Given the description of an element on the screen output the (x, y) to click on. 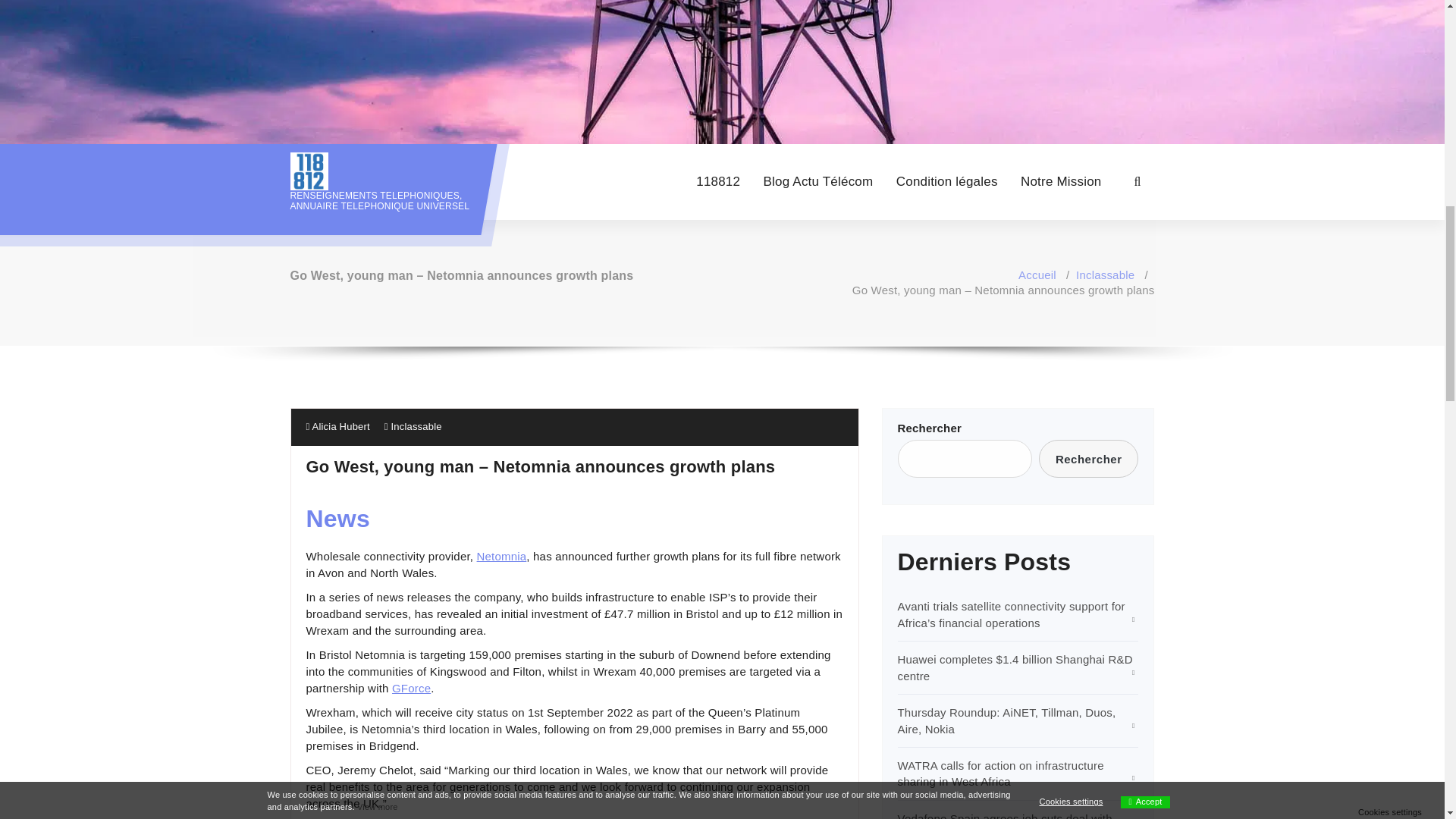
GForce (410, 687)
Notre Mission (1061, 182)
Netomnia (502, 555)
Accueil (1037, 274)
Inclassable (1104, 274)
Alicia Hubert (337, 426)
Inclassable (415, 426)
Vodafone Spain agrees job cuts deal with Spanish work union  (1005, 815)
Thursday Roundup: AiNET, Tillman, Duos, Aire, Nokia (1007, 719)
Rechercher (1088, 458)
